Given the description of an element on the screen output the (x, y) to click on. 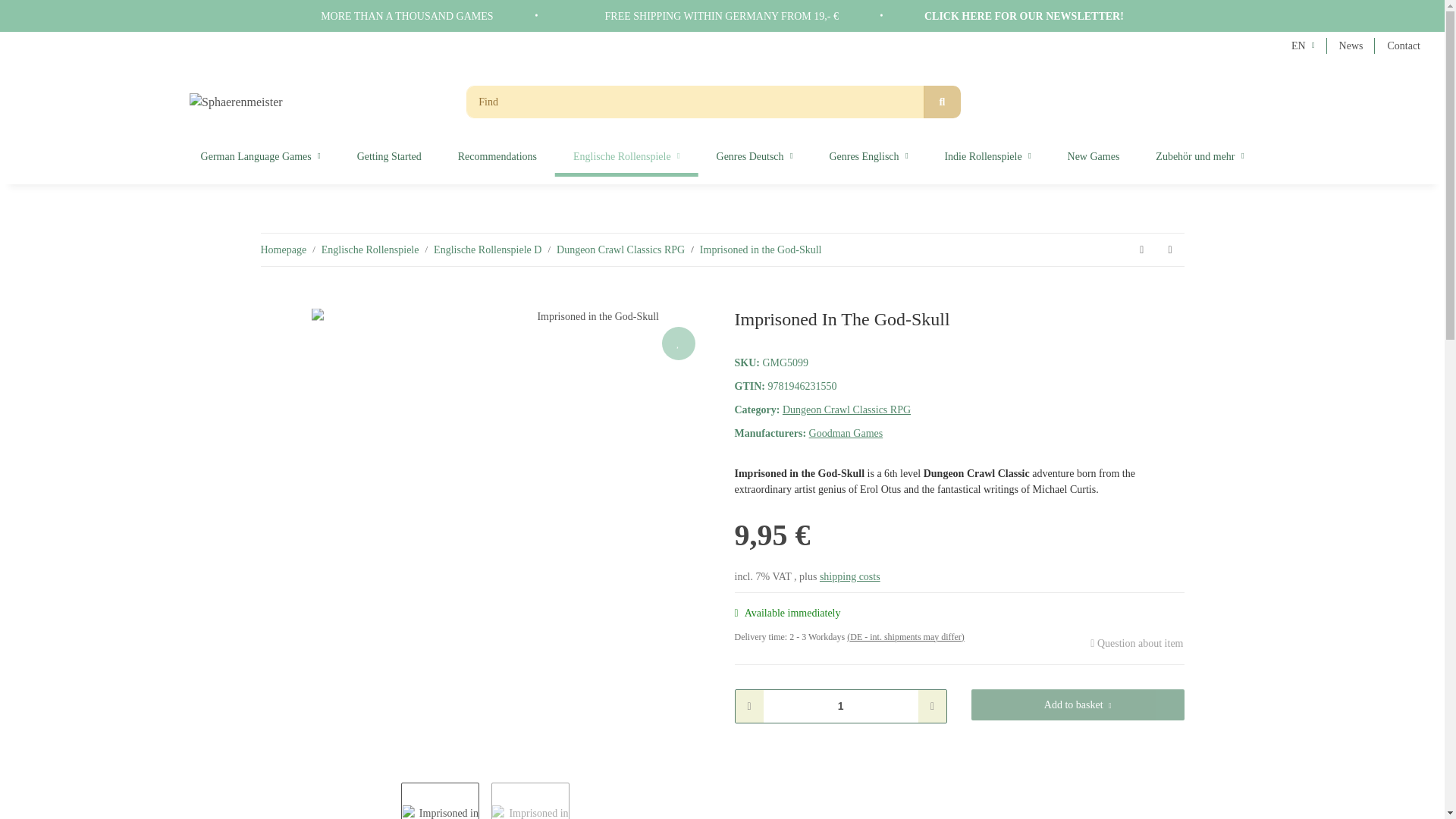
Indie Rollenspiele (987, 156)
German Language Games (261, 156)
New Games (1093, 156)
Contact-Form (1403, 45)
Englische Rollenspiele (626, 156)
Contact (1403, 45)
Englische Rollenspiele (626, 156)
Recommendations (496, 156)
News (1350, 45)
News (1350, 45)
